Given the description of an element on the screen output the (x, y) to click on. 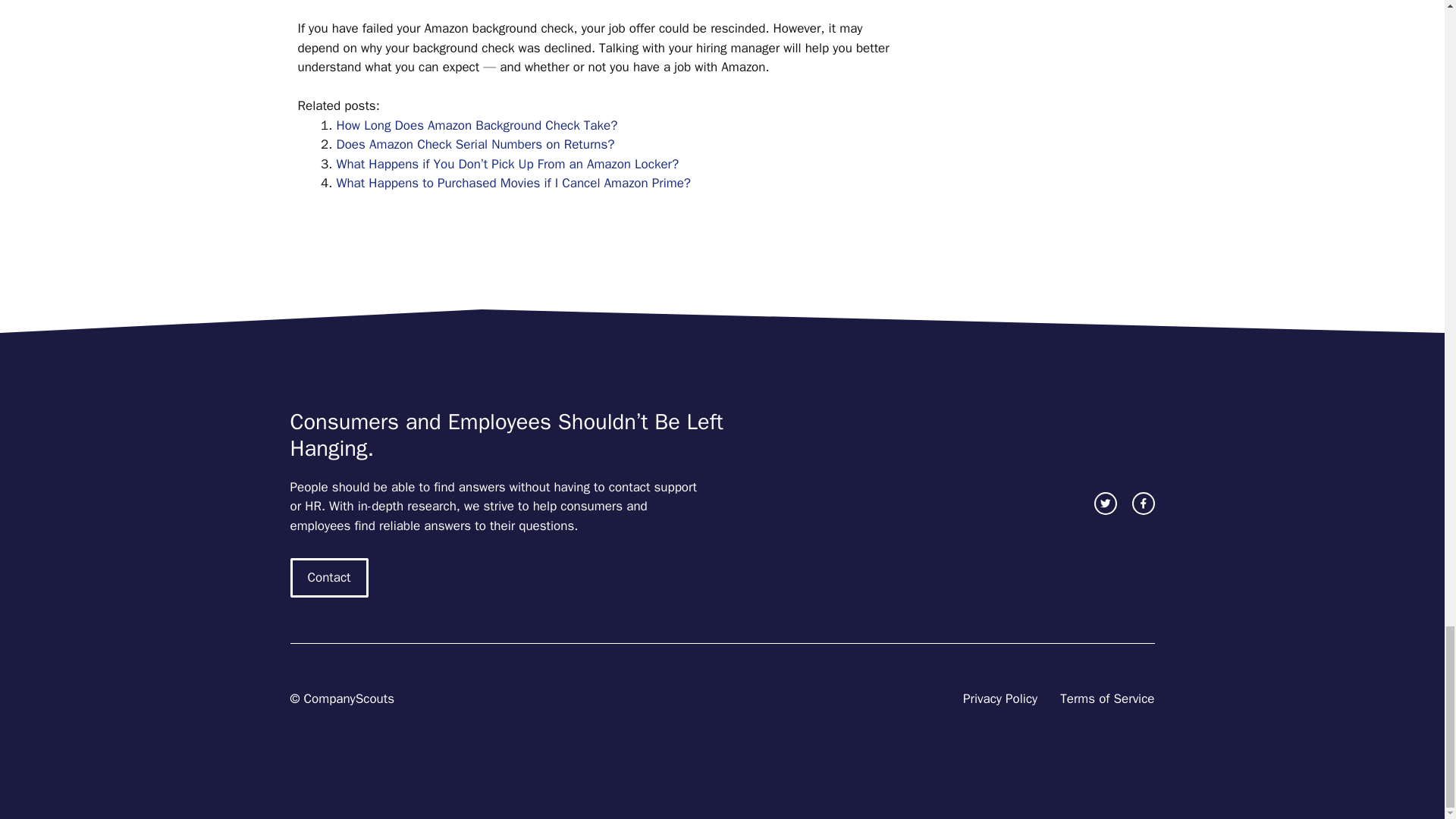
Privacy Policy (999, 699)
Terms of Service (1106, 699)
Contact (328, 577)
What Happens to Purchased Movies if I Cancel Amazon Prime? (513, 182)
Does Amazon Check Serial Numbers on Returns? (475, 144)
Does Amazon Check Serial Numbers on Returns? (475, 144)
How Long Does Amazon Background Check Take? (476, 125)
How Long Does Amazon Background Check Take? (476, 125)
What Happens to Purchased Movies if I Cancel Amazon Prime? (513, 182)
